Given the description of an element on the screen output the (x, y) to click on. 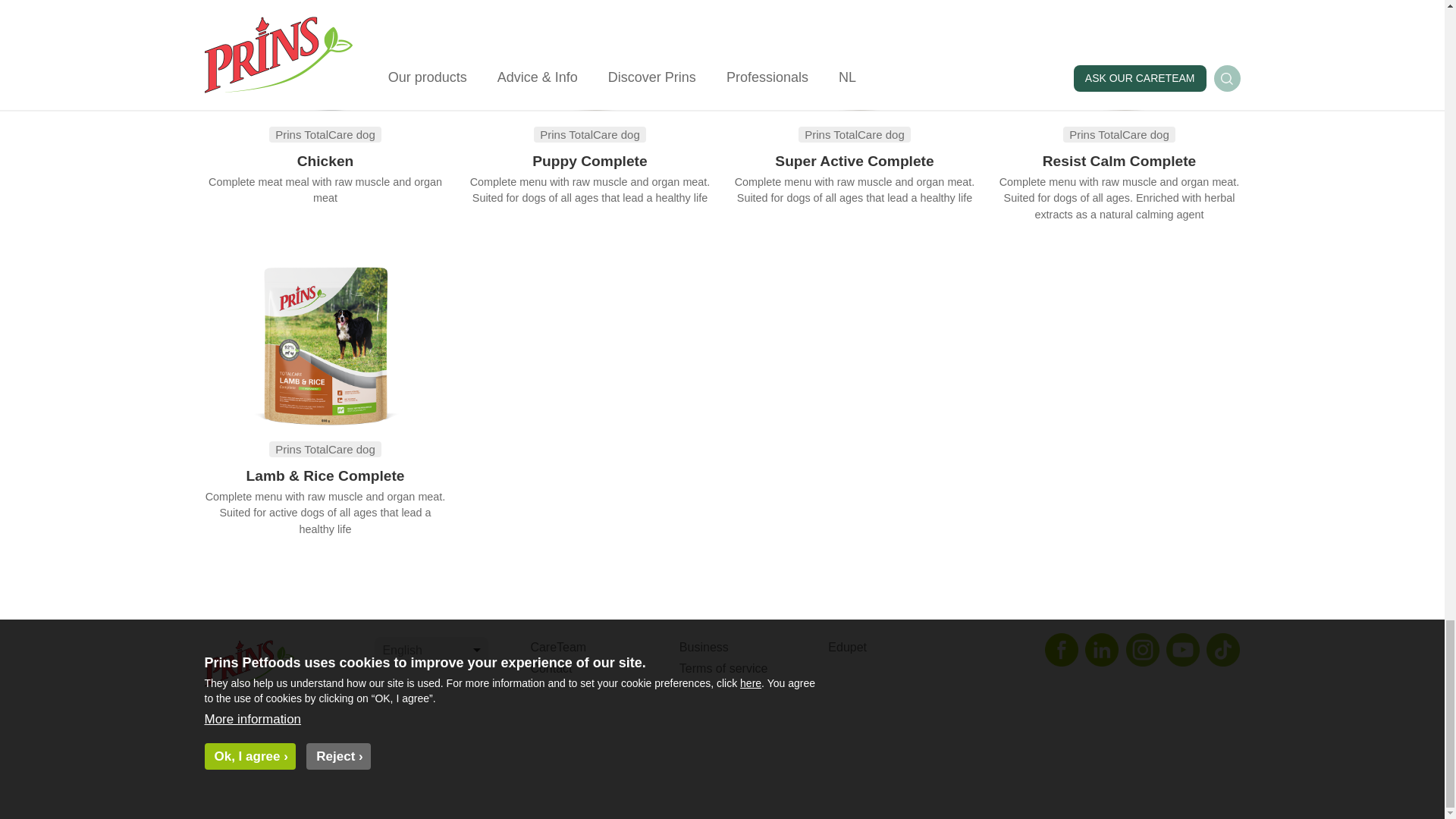
English (430, 650)
Puppy Complete (589, 160)
Super Active Complete (853, 160)
Chicken (325, 160)
Home (282, 666)
Resist Calm Complete (1119, 160)
